Given the description of an element on the screen output the (x, y) to click on. 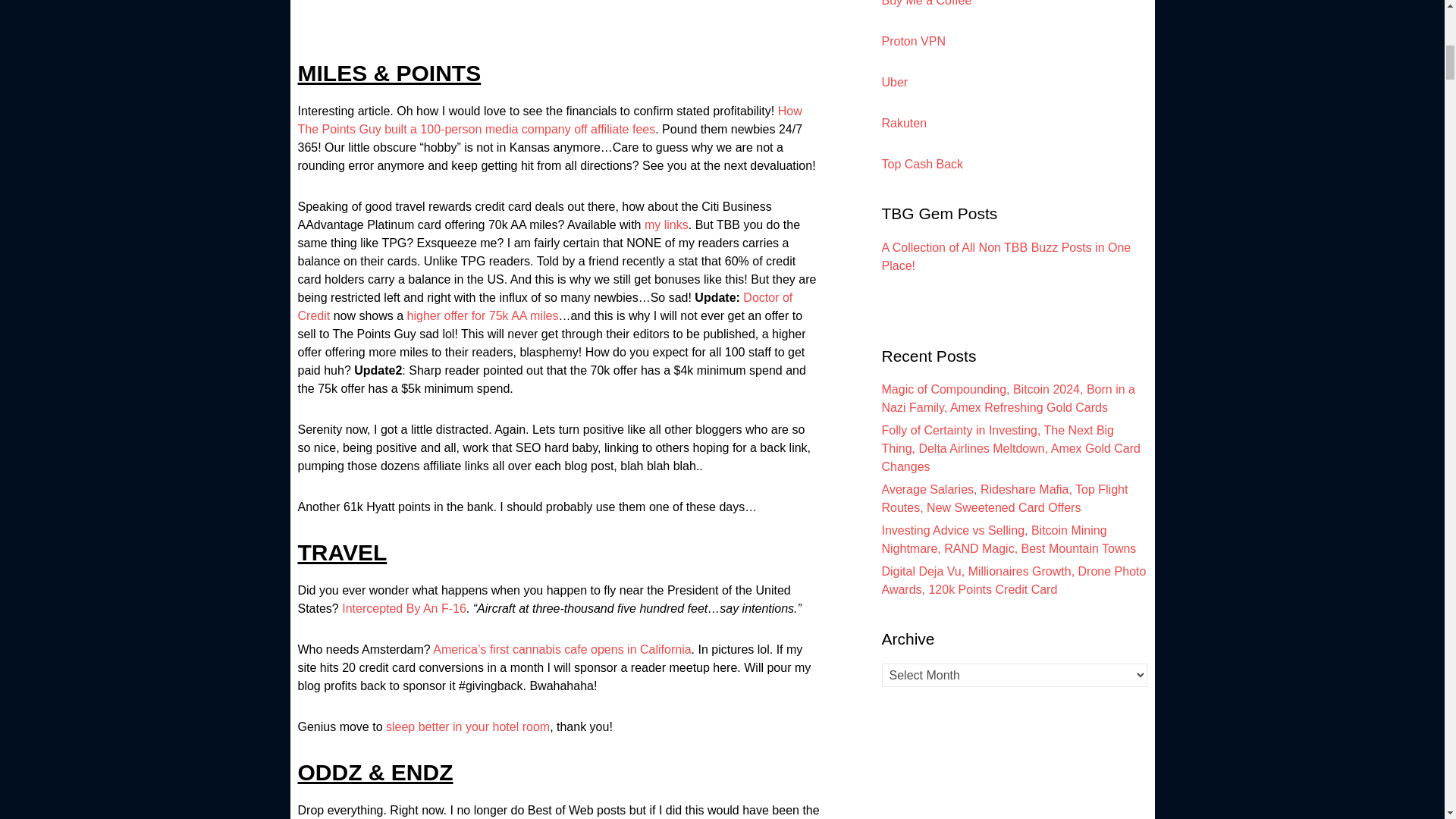
Uber TBB  (893, 82)
Rakuten TBB (903, 123)
Buy Me a Coffee TBB  (925, 3)
higher offer for 75k AA miles (483, 315)
my links (666, 224)
Top Cash Back (921, 164)
Doctor of Credit (544, 306)
Proton VPN TBB  (912, 41)
